Given the description of an element on the screen output the (x, y) to click on. 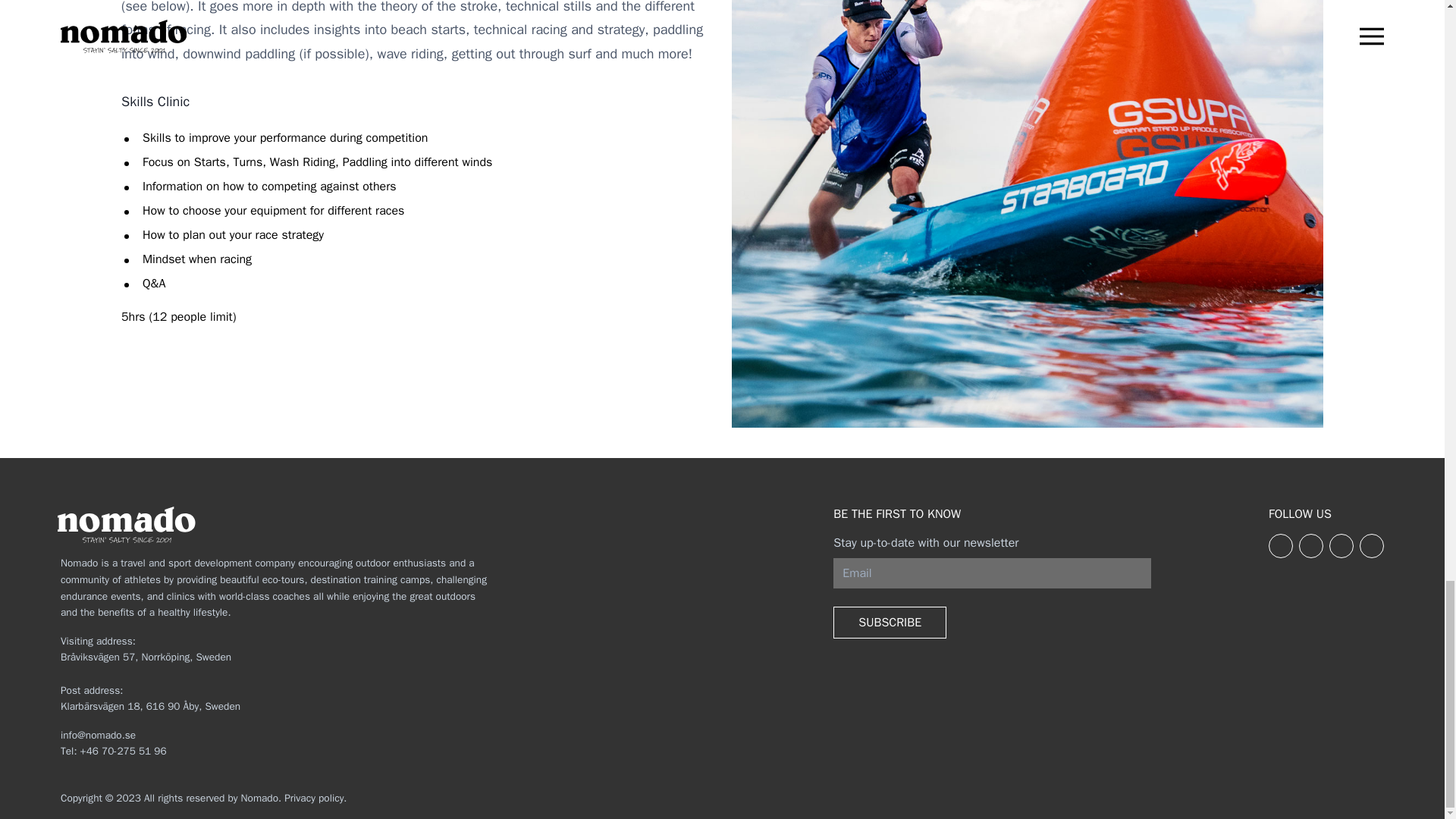
Subscribe (889, 622)
Instagram (1341, 545)
LinkedIn (1371, 545)
Subscribe (889, 622)
Facebook (1280, 545)
Twitter (1310, 545)
Privacy policy. (314, 797)
